Given the description of an element on the screen output the (x, y) to click on. 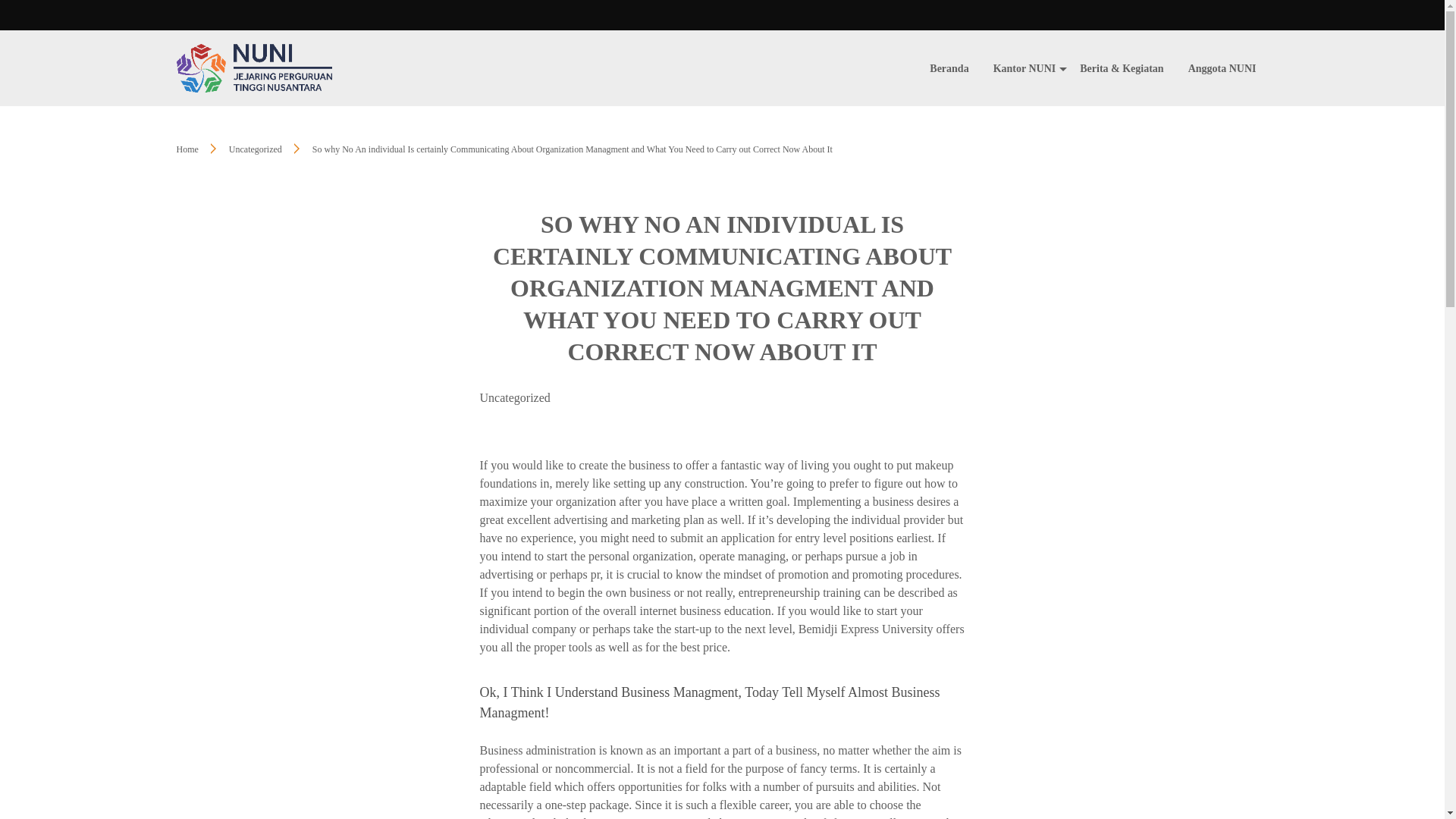
Anggota NUNI (1222, 68)
Home (187, 149)
Beranda (949, 68)
Uncategorized (514, 398)
